Given the description of an element on the screen output the (x, y) to click on. 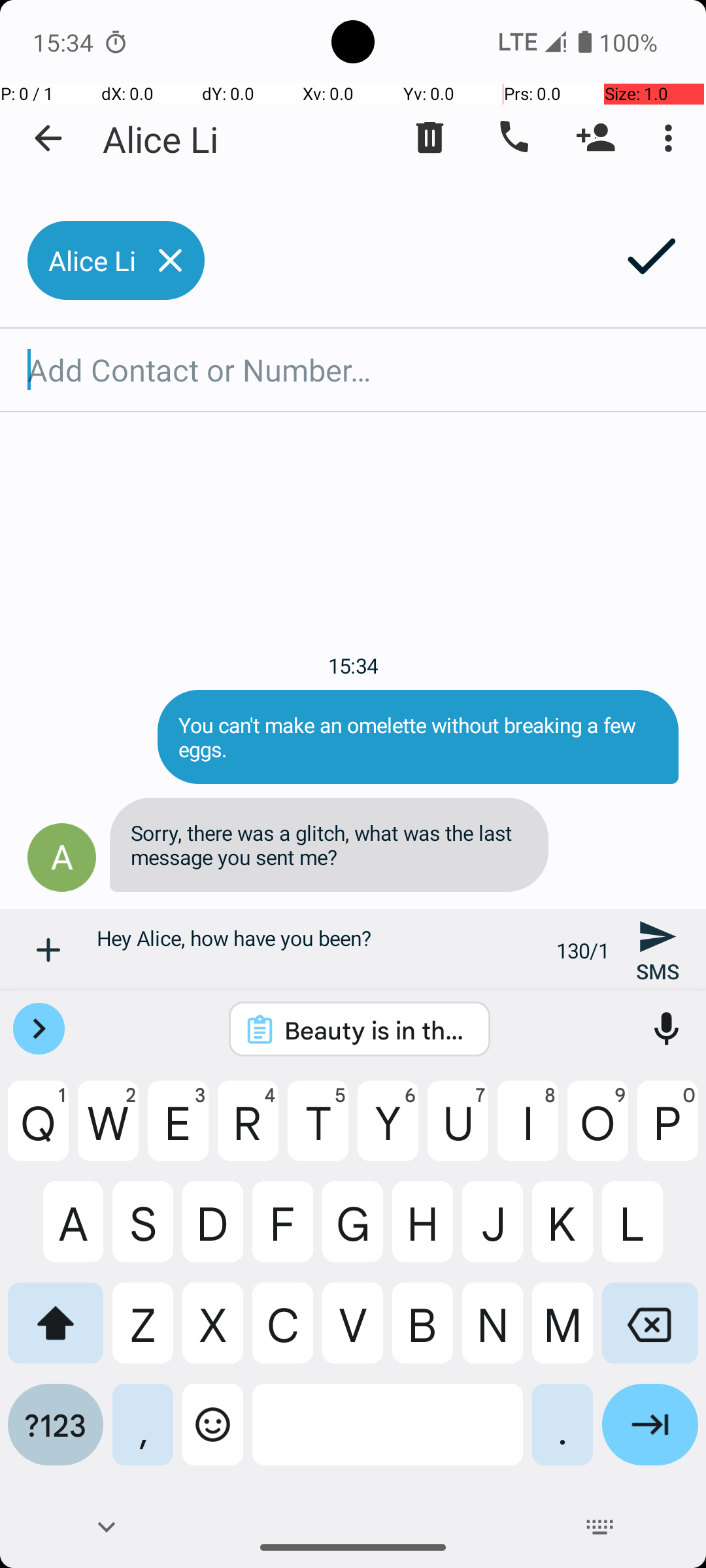
Alice Li Element type: android.widget.TextView (160, 138)
Hey Alice, how have you been?
 Element type: android.widget.EditText (318, 949)
130/1 Element type: android.widget.TextView (582, 950)
You can't make an omelette without breaking a few eggs. Element type: android.widget.TextView (417, 736)
Beauty is in the eye of the beholder. Element type: android.widget.TextView (376, 1029)
